Given the description of an element on the screen output the (x, y) to click on. 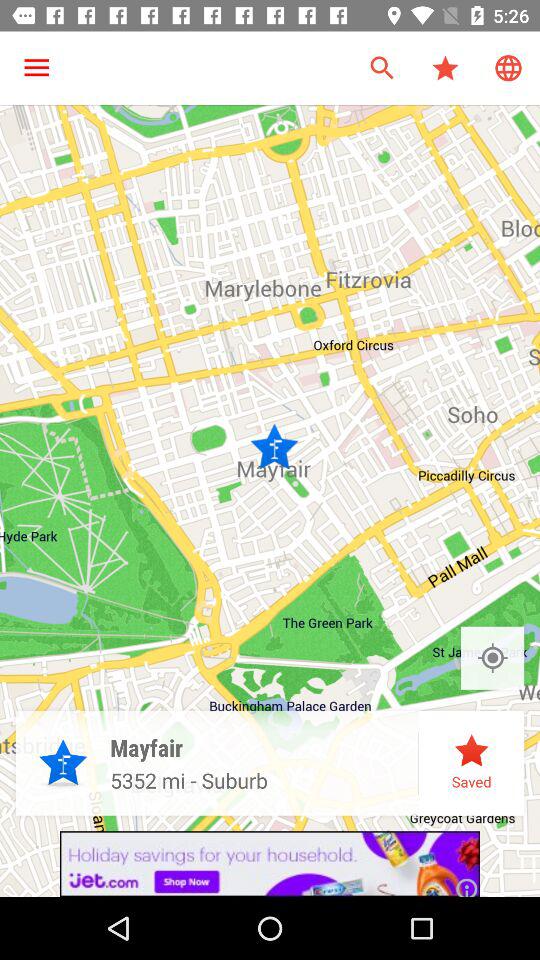
this button shows you your current location (492, 657)
